Given the description of an element on the screen output the (x, y) to click on. 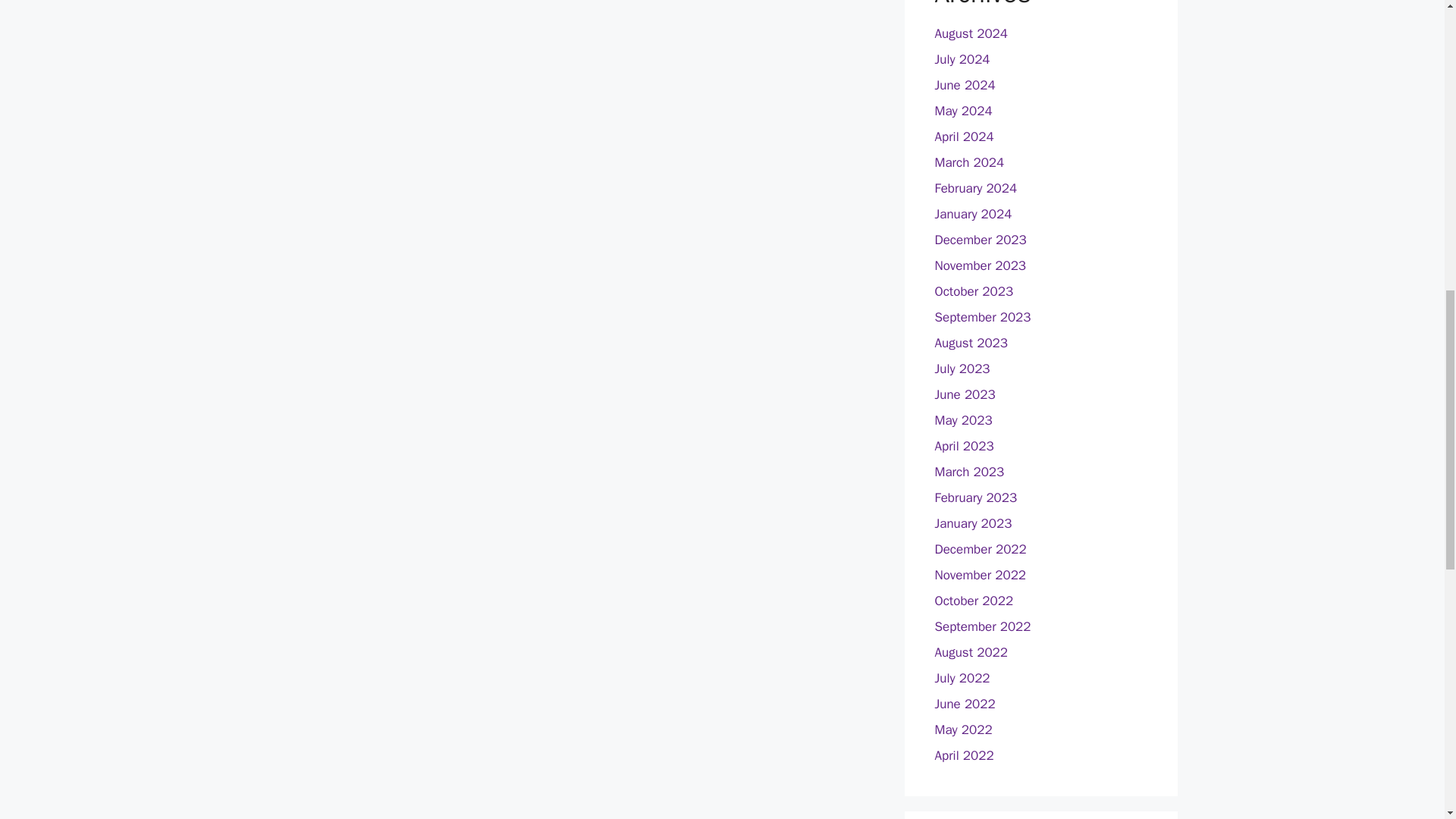
November 2023 (980, 265)
December 2023 (980, 239)
February 2024 (975, 188)
June 2024 (964, 84)
June 2023 (964, 394)
August 2024 (970, 33)
January 2024 (972, 213)
October 2023 (973, 291)
March 2024 (969, 162)
July 2023 (962, 368)
